Given the description of an element on the screen output the (x, y) to click on. 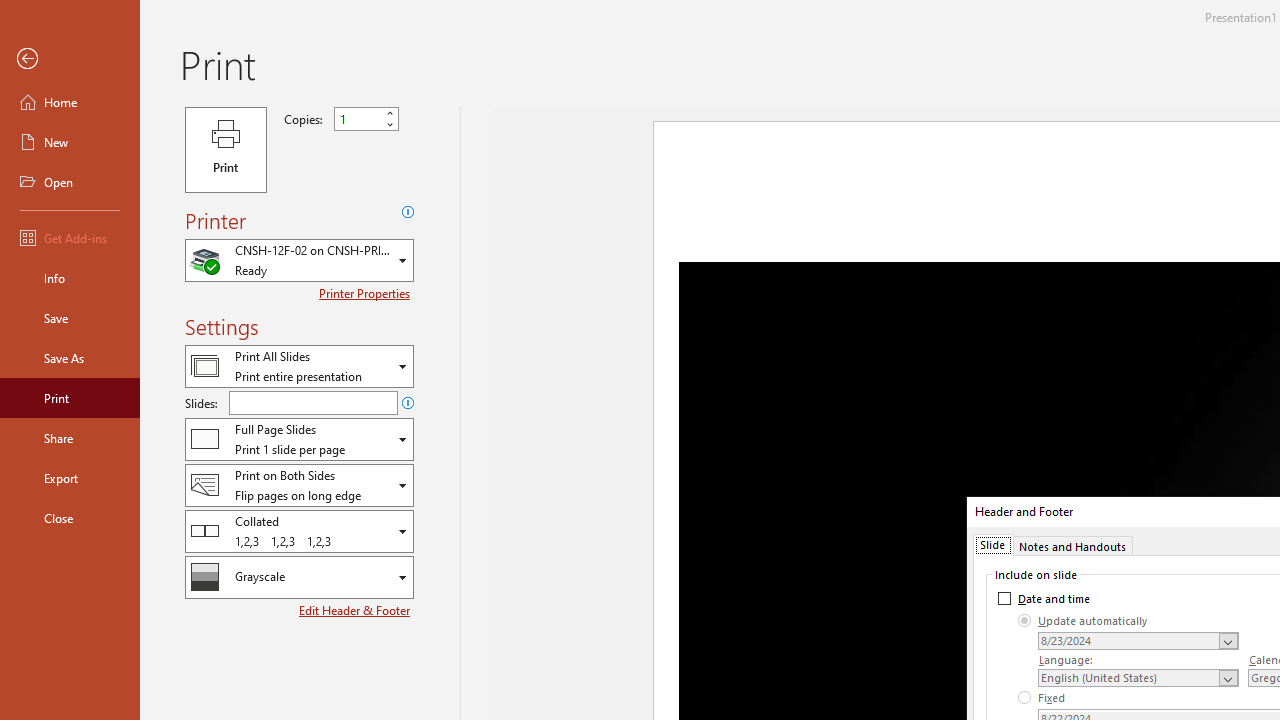
Get Add-ins (69, 237)
Printer Properties (365, 293)
Date and time (1044, 598)
Print (69, 398)
New (69, 141)
Copies (366, 119)
Info (69, 277)
Slides and Handouts (299, 439)
Back (69, 59)
Slides (313, 402)
Collation (299, 530)
